Given the description of an element on the screen output the (x, y) to click on. 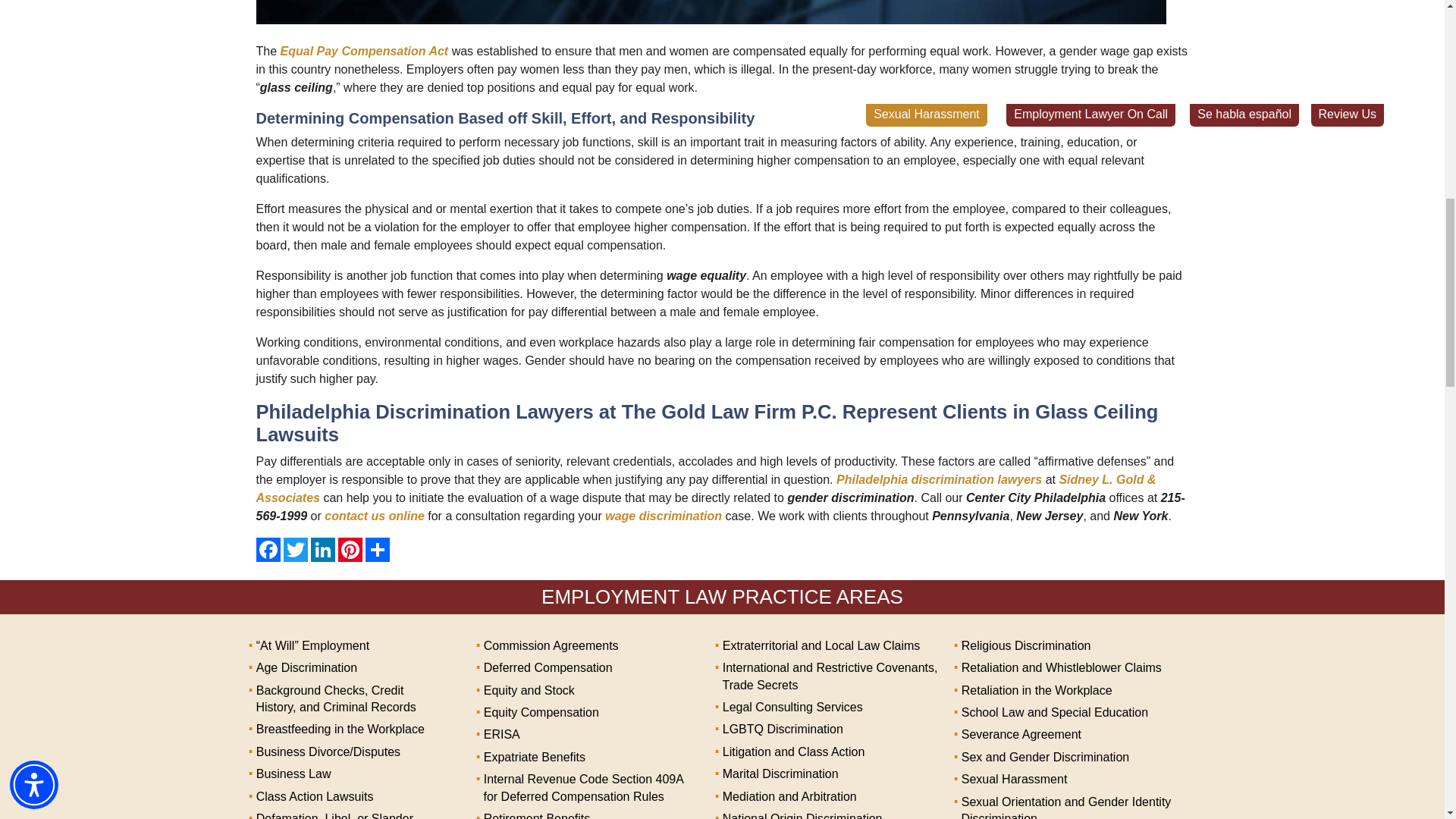
Twitter (295, 549)
LinkedIn (322, 549)
Pinterest (349, 549)
Facebook (268, 549)
